Given the description of an element on the screen output the (x, y) to click on. 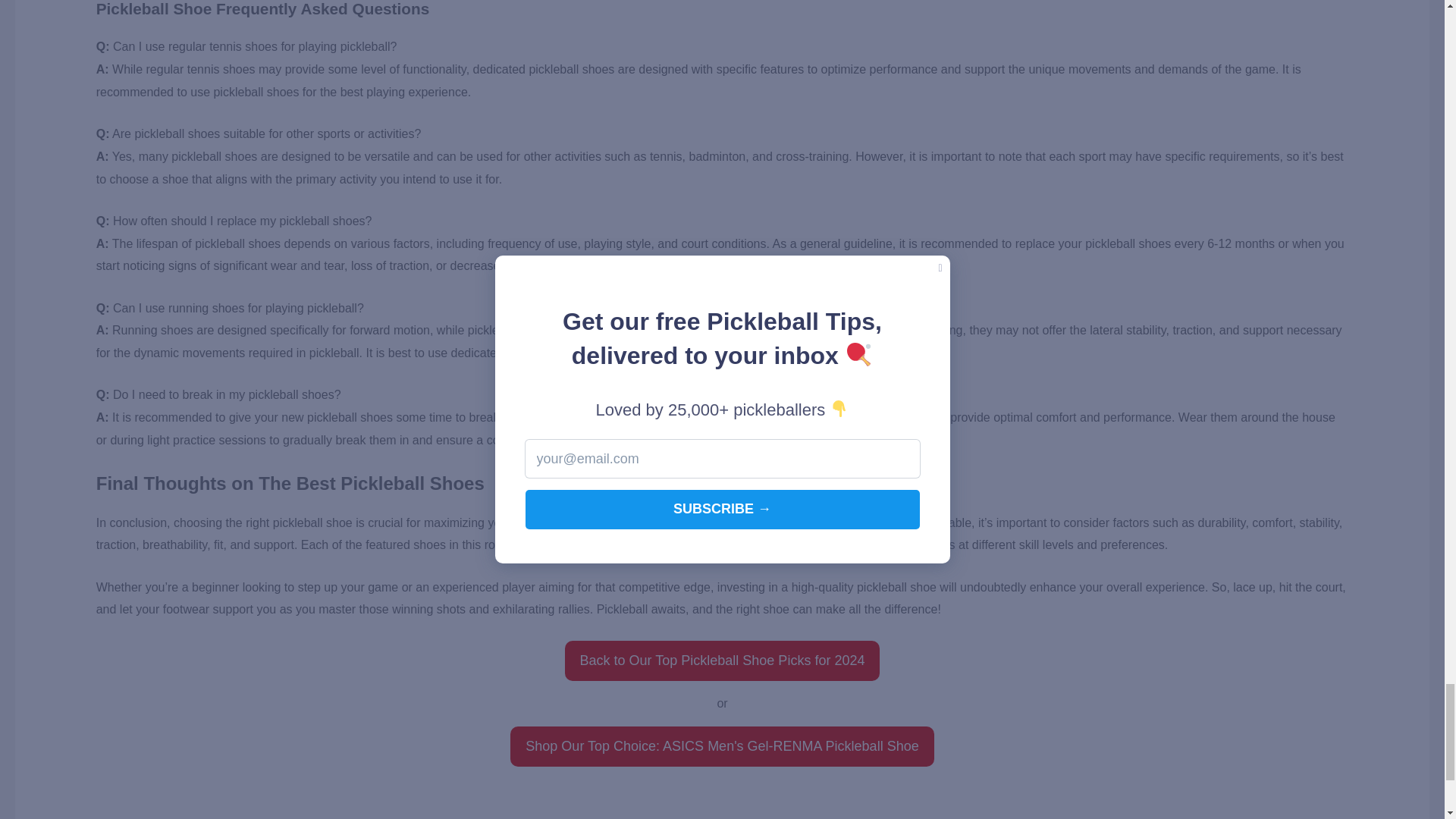
Shop Our Top Choice: ASICS Men's Gel-RENMA Pickleball Shoe (722, 746)
Back to Our Top Pickleball Shoe Picks for 2024 (722, 660)
